Given the description of an element on the screen output the (x, y) to click on. 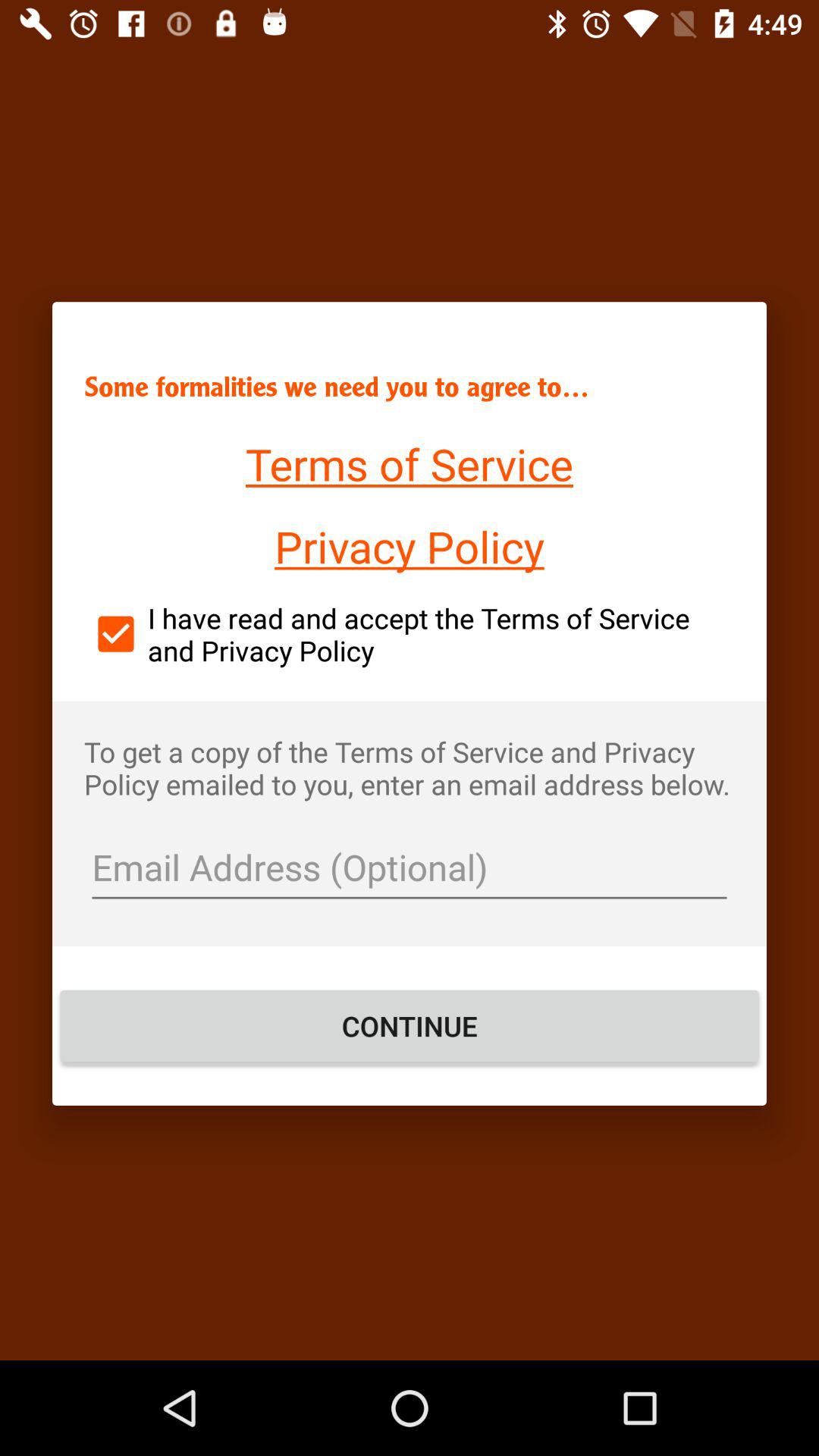
open continue (409, 1025)
